Given the description of an element on the screen output the (x, y) to click on. 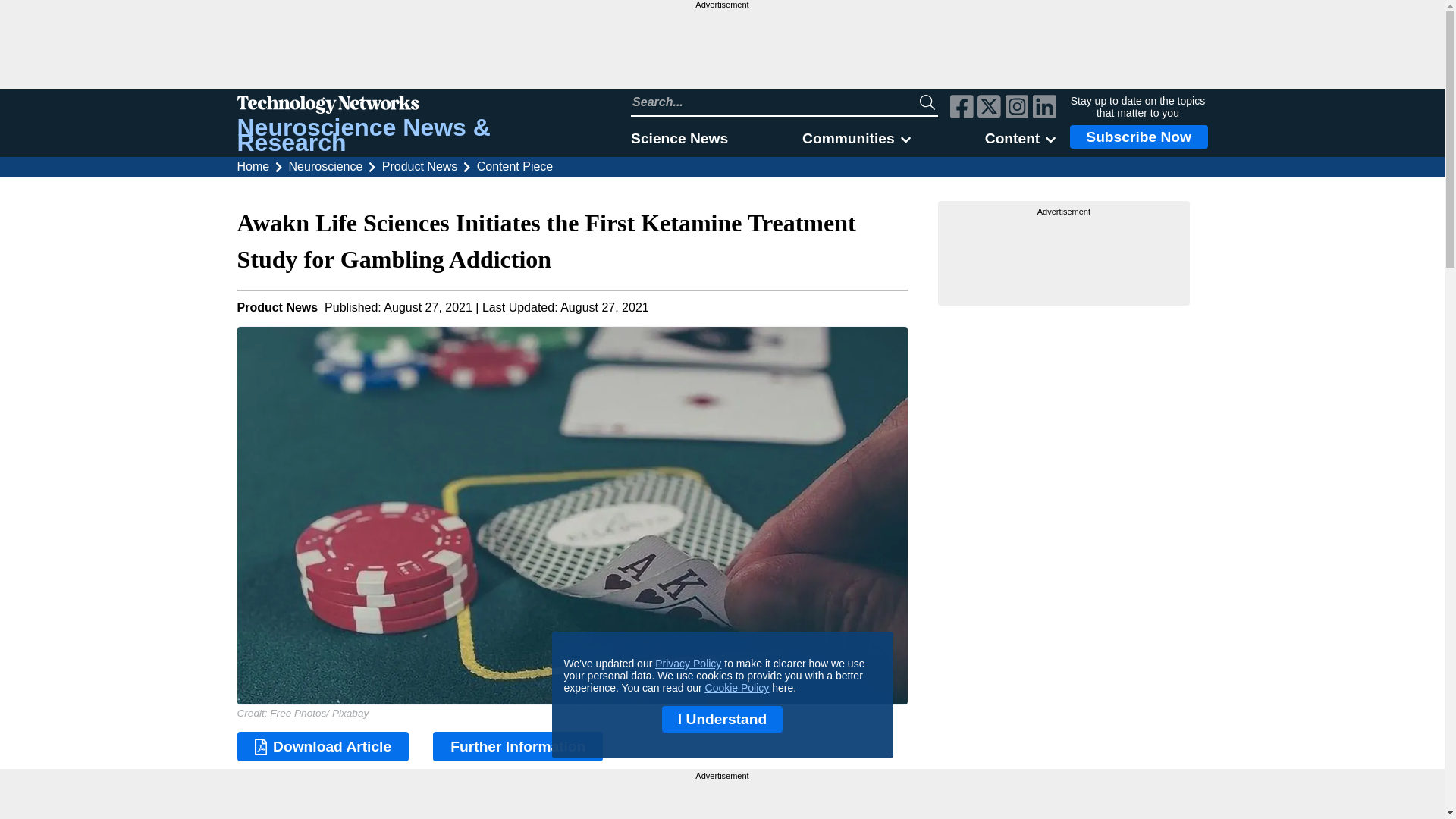
Search Technology Networks website input field (775, 102)
Technology Networks logo (415, 106)
I Understand (722, 718)
Privacy Policy (687, 663)
Cookie Policy (737, 687)
